Given the description of an element on the screen output the (x, y) to click on. 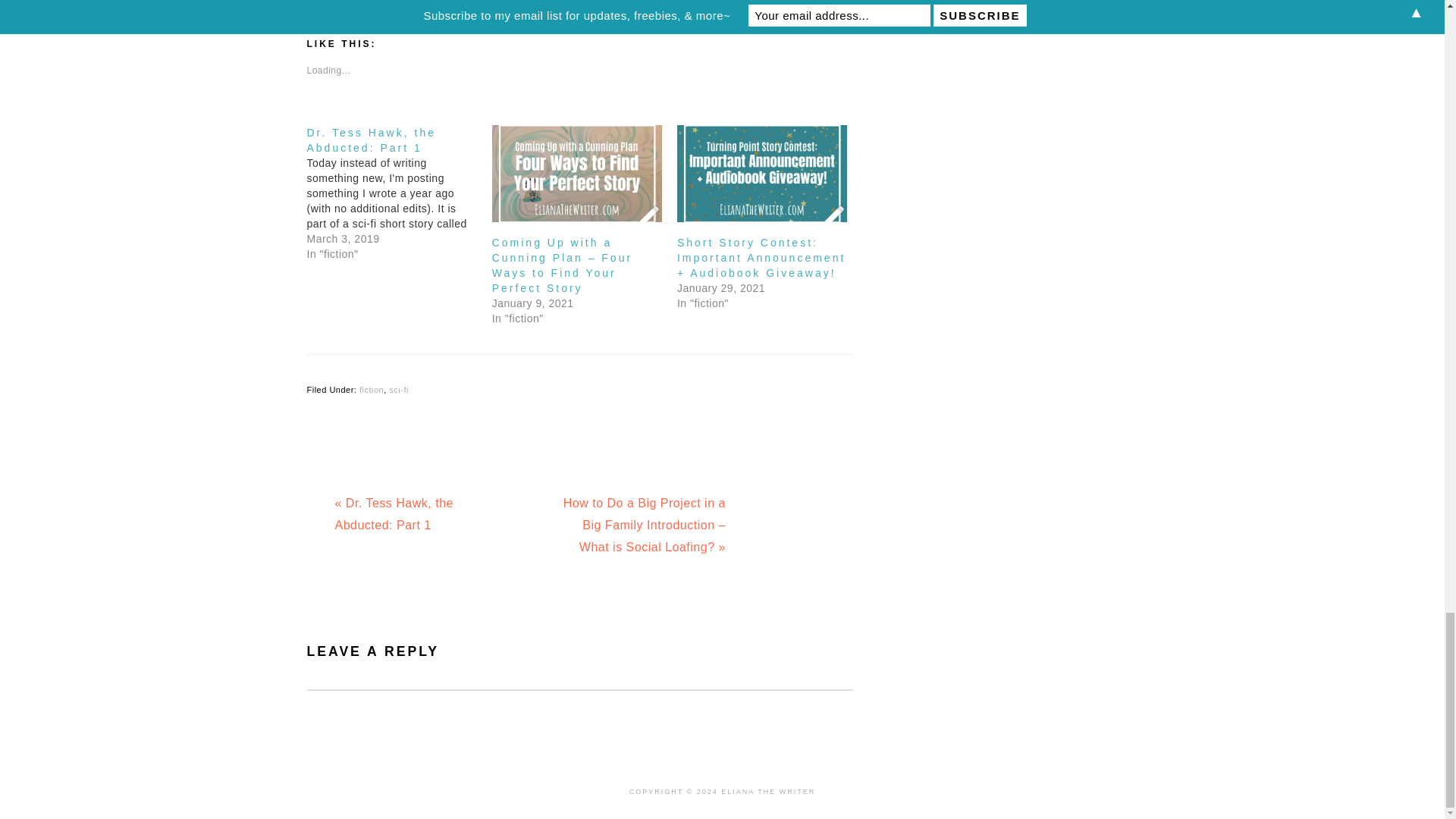
Facebook (346, 3)
fiction (371, 388)
Dr. Tess Hawk, the Abducted: Part 1 (398, 193)
Dr. Tess Hawk, the Abducted: Part 1 (370, 139)
Click to share on X (413, 3)
sci-fi (398, 388)
Click to share on Facebook (346, 3)
X (413, 3)
Dr. Tess Hawk, the Abducted: Part 1 (370, 139)
